Given the description of an element on the screen output the (x, y) to click on. 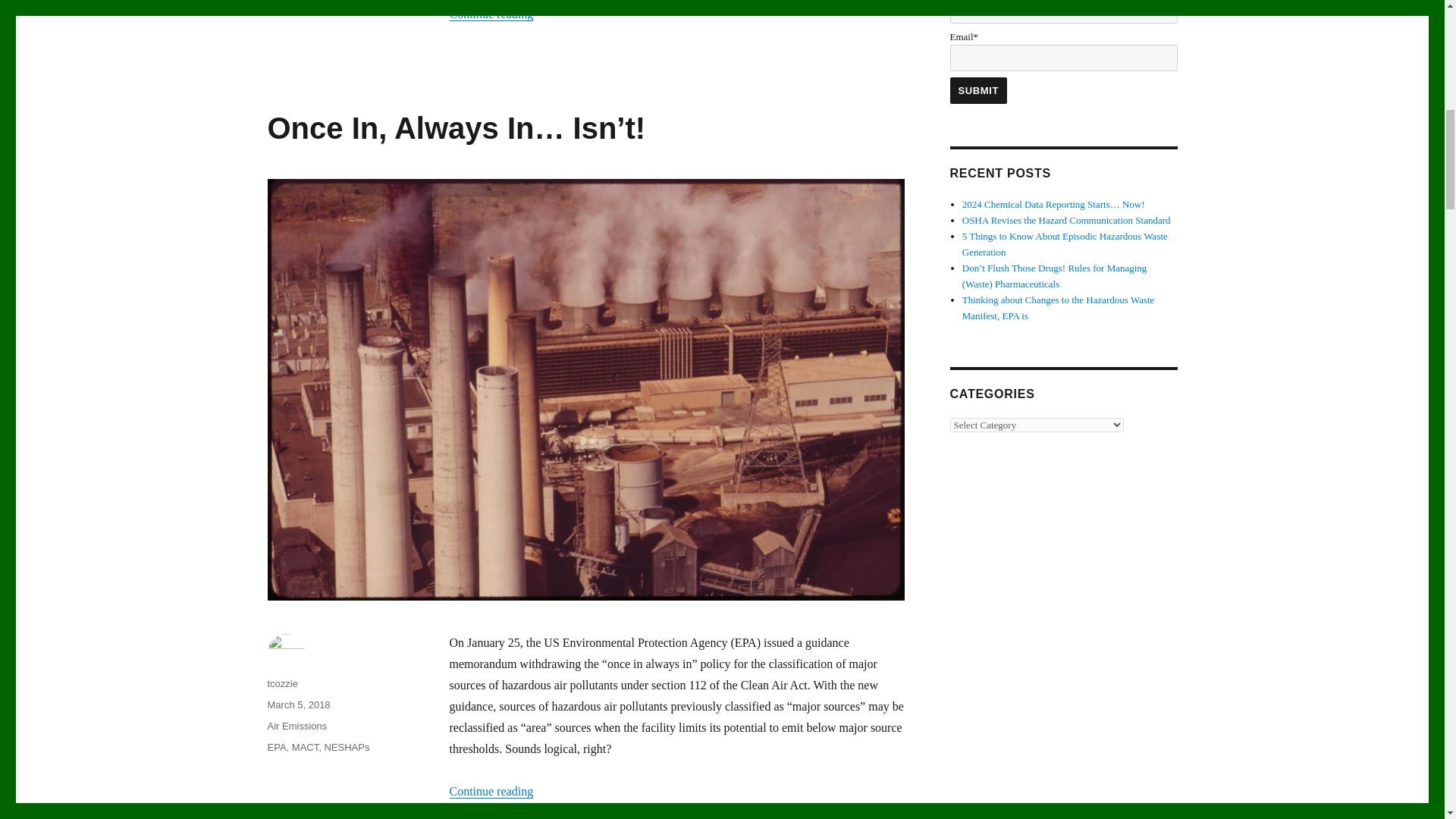
EPA (275, 747)
Submit (978, 90)
March 5, 2018 (298, 704)
MACT (305, 747)
tcozzie (281, 683)
NESHAPs (346, 747)
Air Emissions (296, 726)
